Given the description of an element on the screen output the (x, y) to click on. 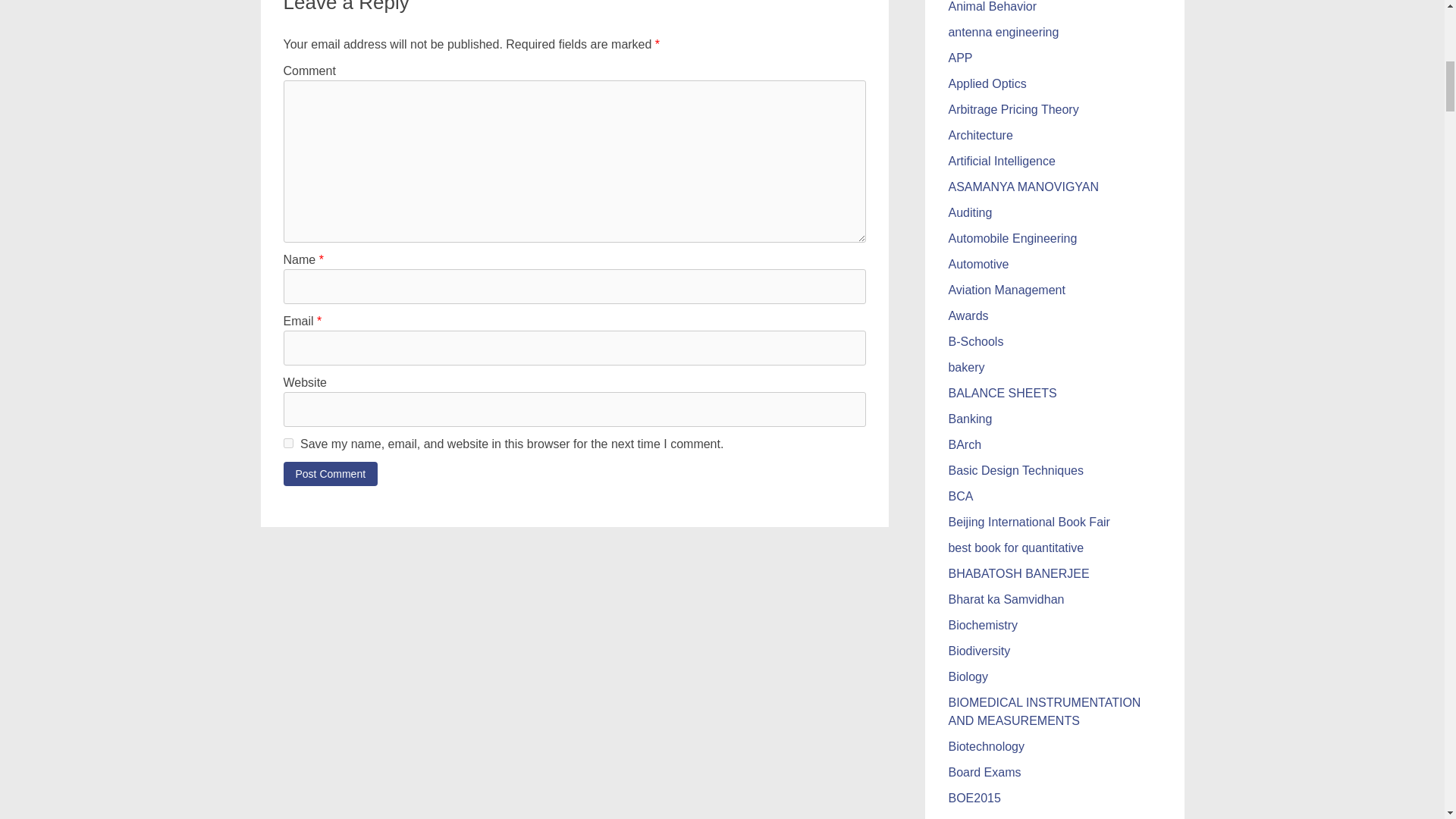
ASAMANYA MANOVIGYAN (1023, 186)
Post Comment (330, 473)
yes (288, 442)
Architecture (979, 134)
Applied Optics (986, 83)
Automobile Engineering (1012, 237)
Artificial Intelligence (1000, 160)
Post Comment (330, 473)
Arbitrage Pricing Theory (1012, 109)
APP (959, 57)
Auditing (969, 212)
Automotive (978, 264)
antenna engineering (1002, 31)
Animal Behavior (991, 6)
Aviation Management (1005, 289)
